Given the description of an element on the screen output the (x, y) to click on. 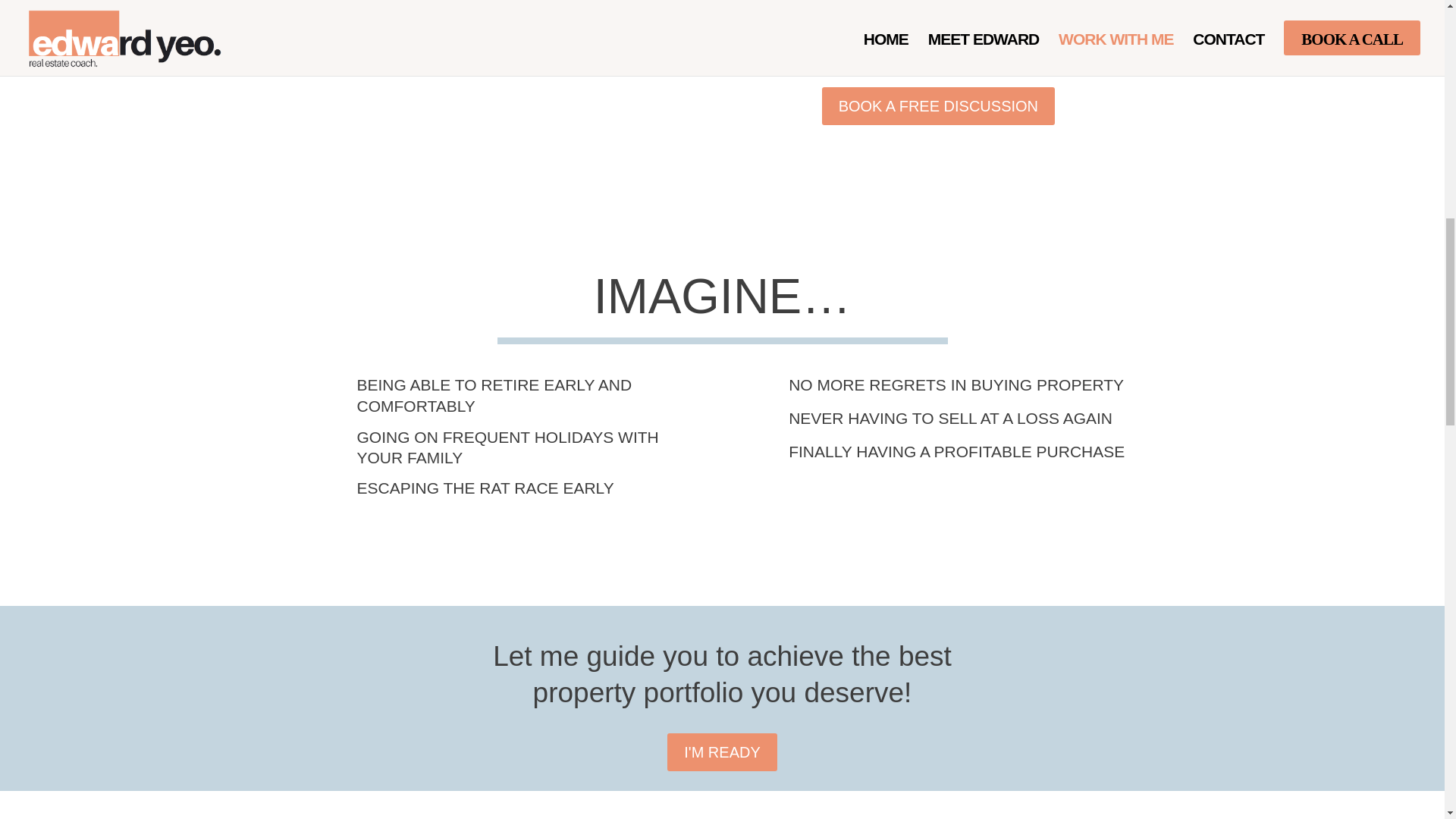
I'M READY (721, 752)
edward-yeo-real-estate-coach-clients (490, 77)
BOOK A FREE DISCUSSION (938, 105)
